Given the description of an element on the screen output the (x, y) to click on. 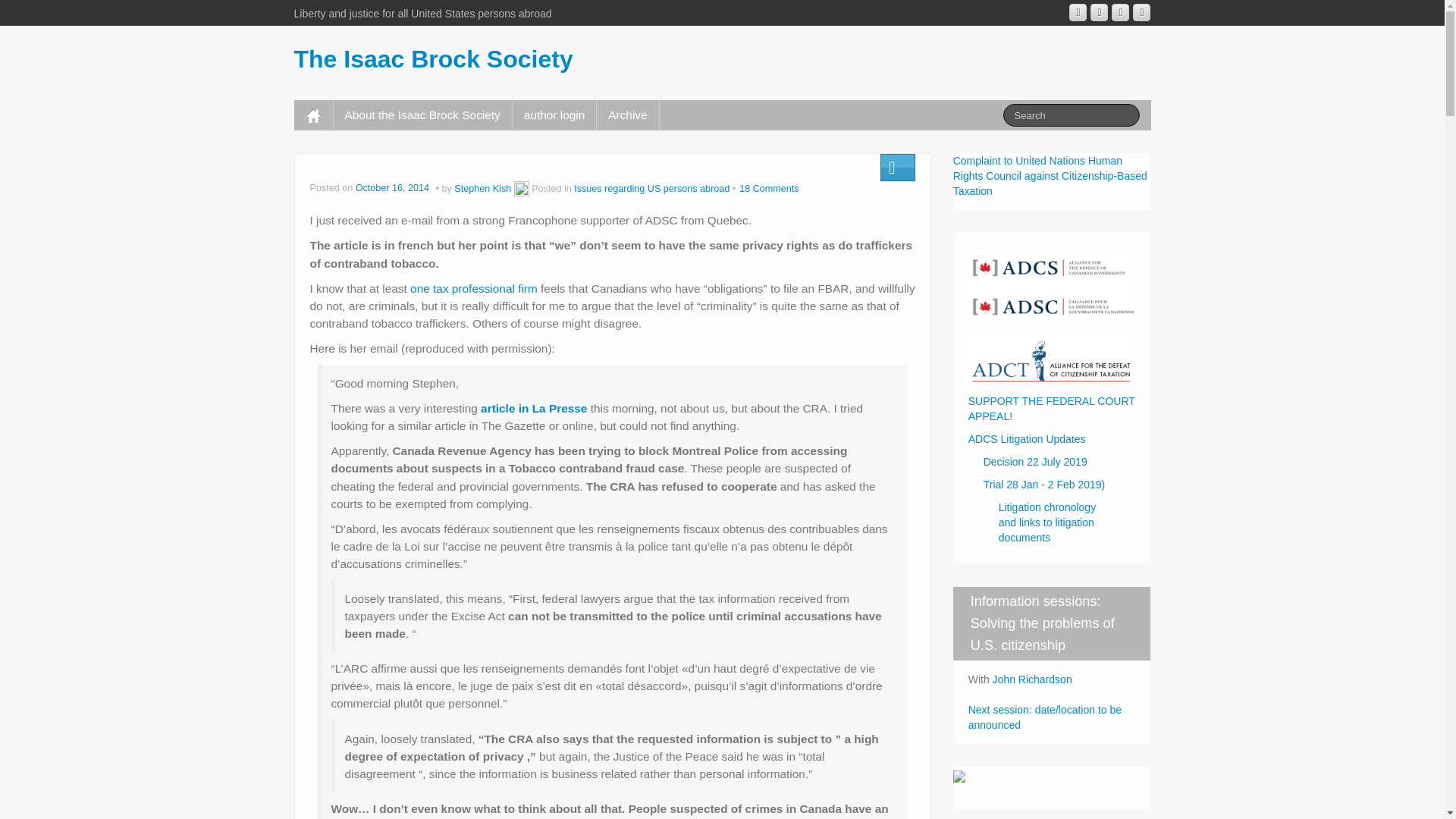
About the Isaac Brock Society (422, 114)
article in La Presse (533, 408)
18 Comments (768, 188)
The Isaac Brock Society (433, 58)
Stephen Kish (482, 188)
article in La Presse (533, 408)
The Isaac Brock Society Vimeo (1120, 12)
author login (553, 114)
October 16, 2014 (393, 188)
Issues regarding US persons abroad (651, 188)
Archive (627, 114)
12:11 pm (393, 188)
one tax professional firm (473, 287)
The Isaac Brock Society Googleplus (1077, 12)
ADCT (1051, 357)
